Given the description of an element on the screen output the (x, y) to click on. 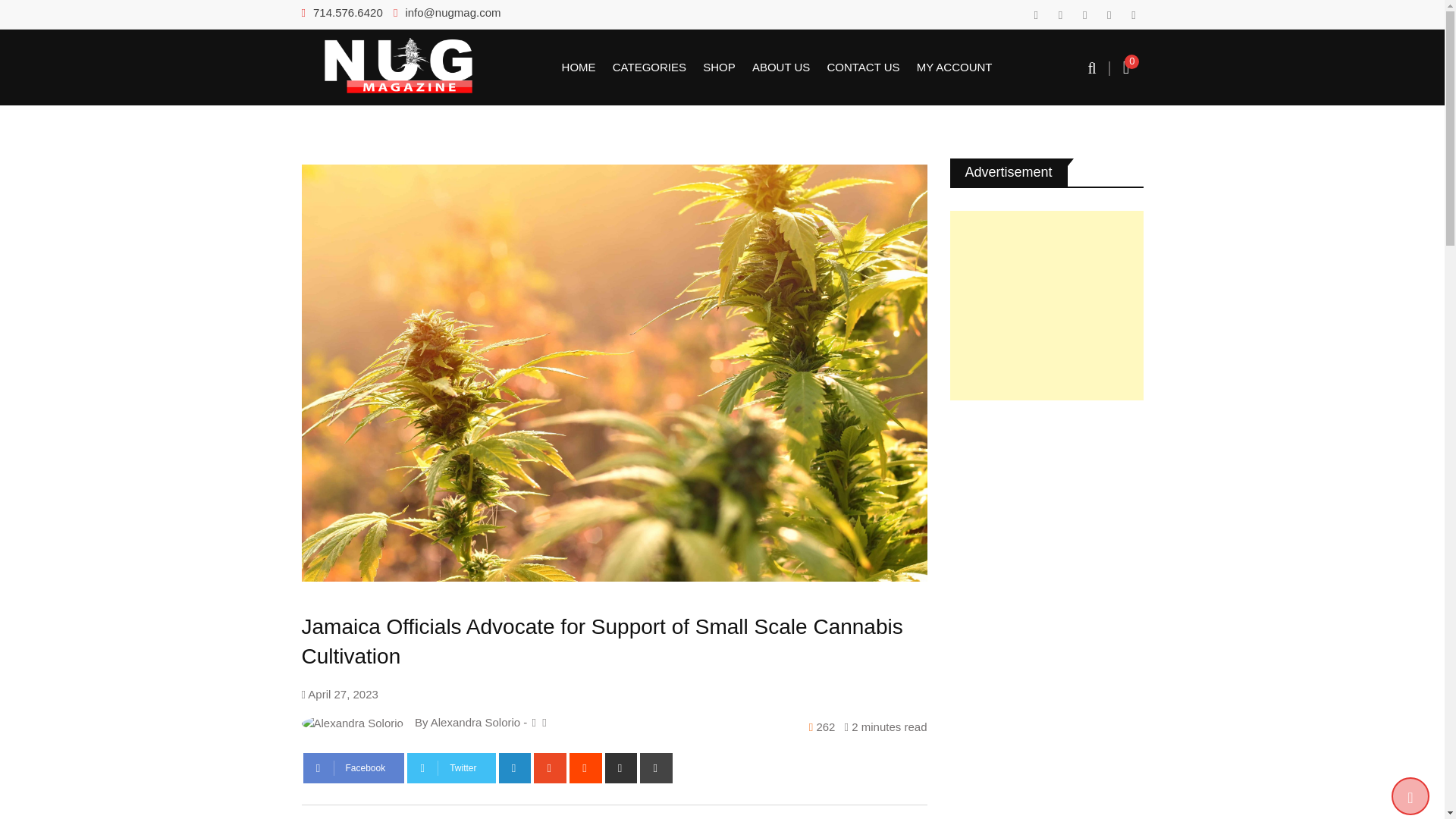
ABOUT US (780, 66)
CONTACT US (862, 66)
CATEGORIES (649, 66)
714.576.6420 (347, 11)
MY ACCOUNT (954, 66)
